Given the description of an element on the screen output the (x, y) to click on. 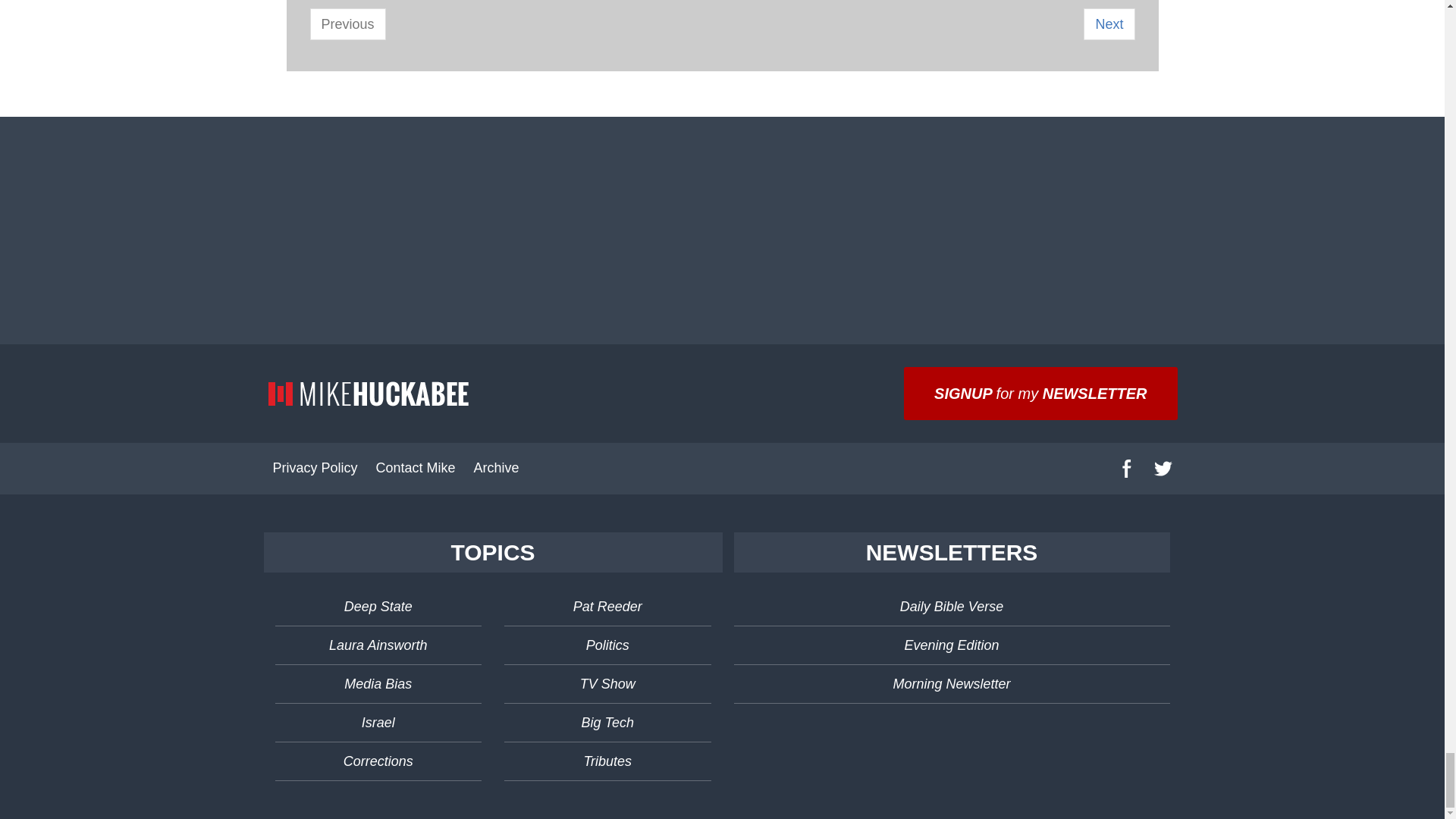
Twitter (1162, 468)
Facebook (1126, 468)
Facebook Icon (1126, 468)
Twitter Icon (1163, 468)
